Given the description of an element on the screen output the (x, y) to click on. 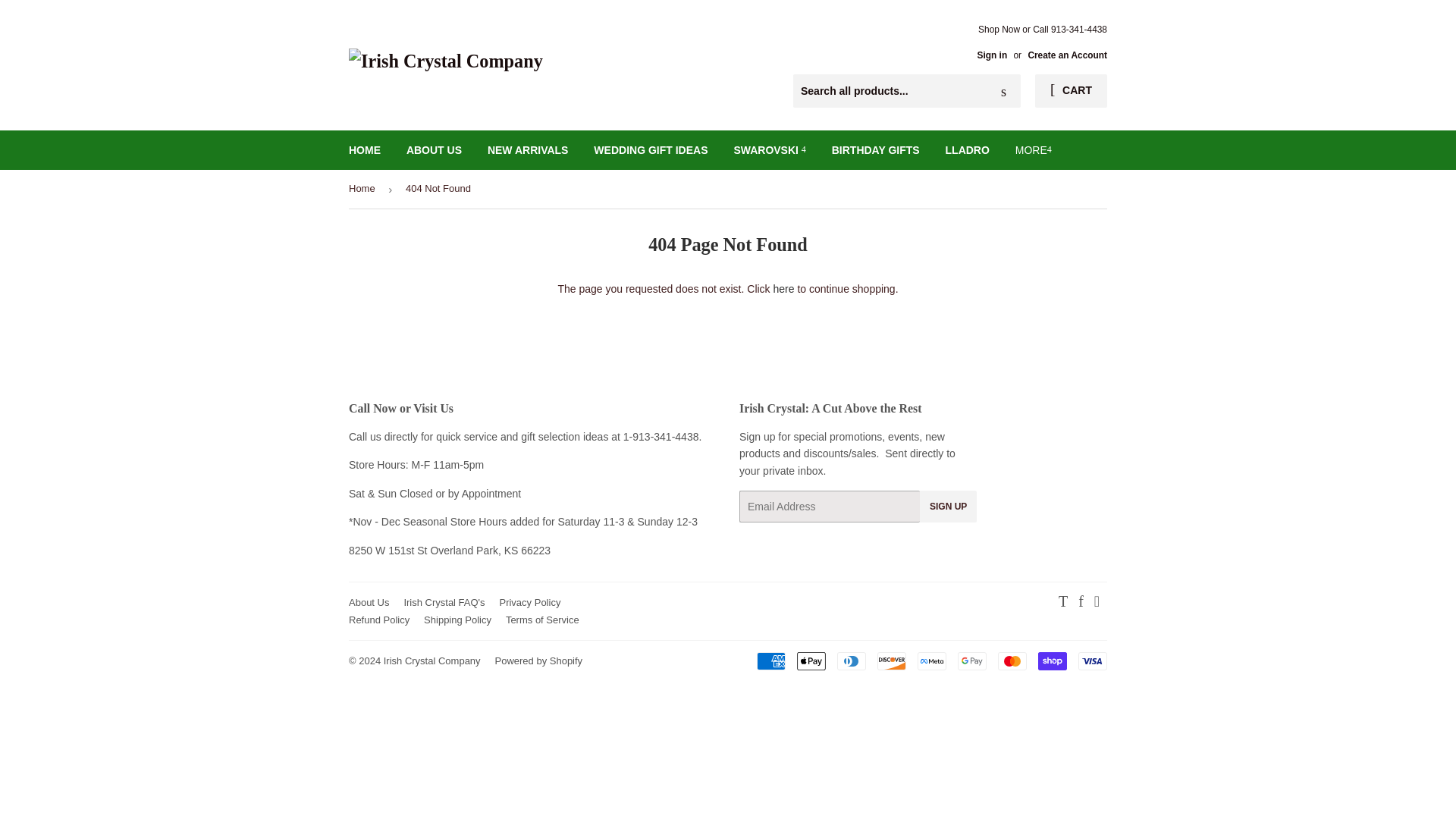
American Express (771, 660)
NEW ARRIVALS (527, 149)
Mastercard (1011, 660)
HOME (364, 149)
Visa (1092, 660)
WEDDING GIFT IDEAS (650, 149)
Diners Club (851, 660)
ABOUT US (433, 149)
Create an Account (1066, 54)
Apple Pay (810, 660)
